Given the description of an element on the screen output the (x, y) to click on. 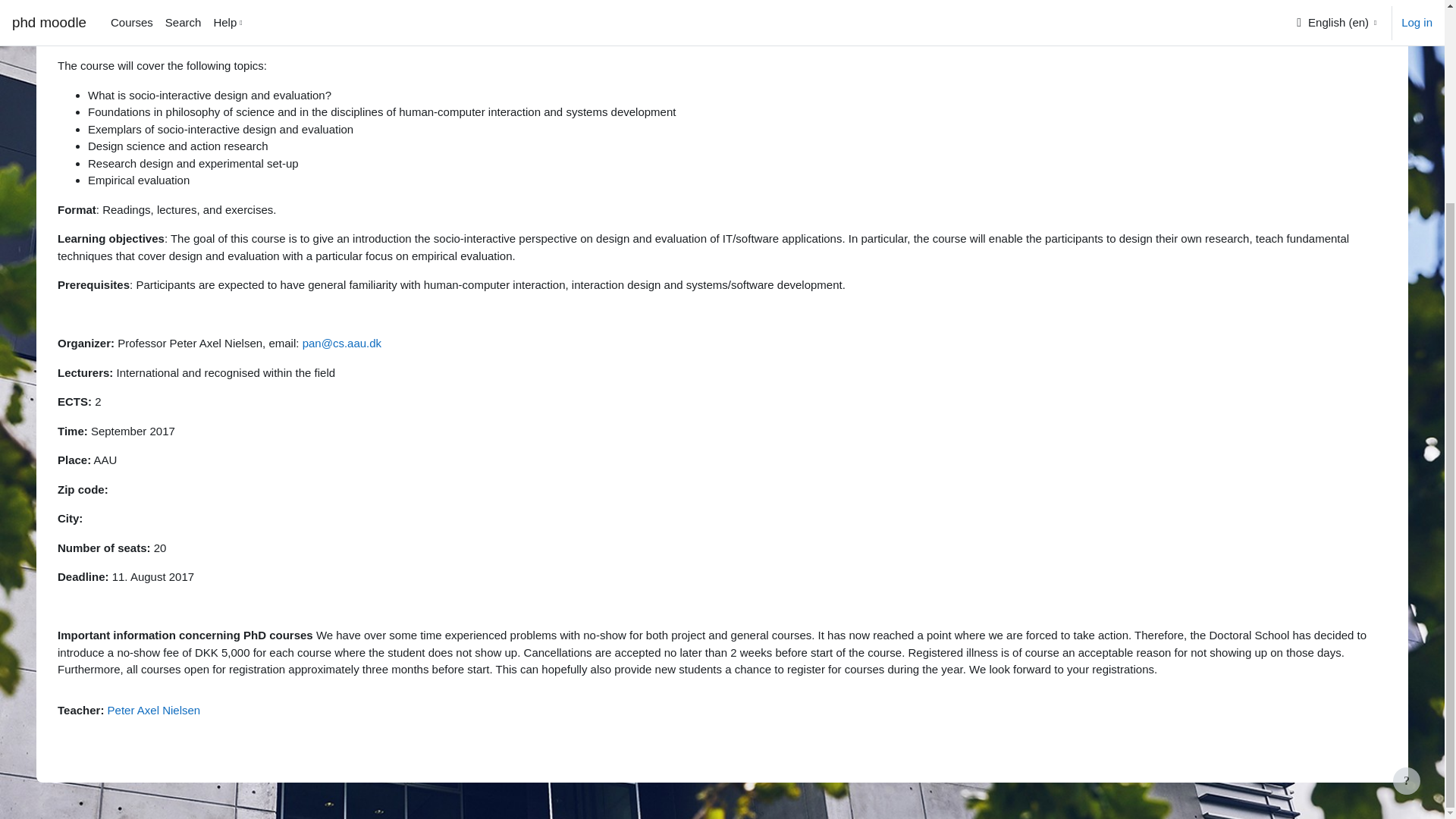
Peter Axel Nielsen (153, 708)
